Given the description of an element on the screen output the (x, y) to click on. 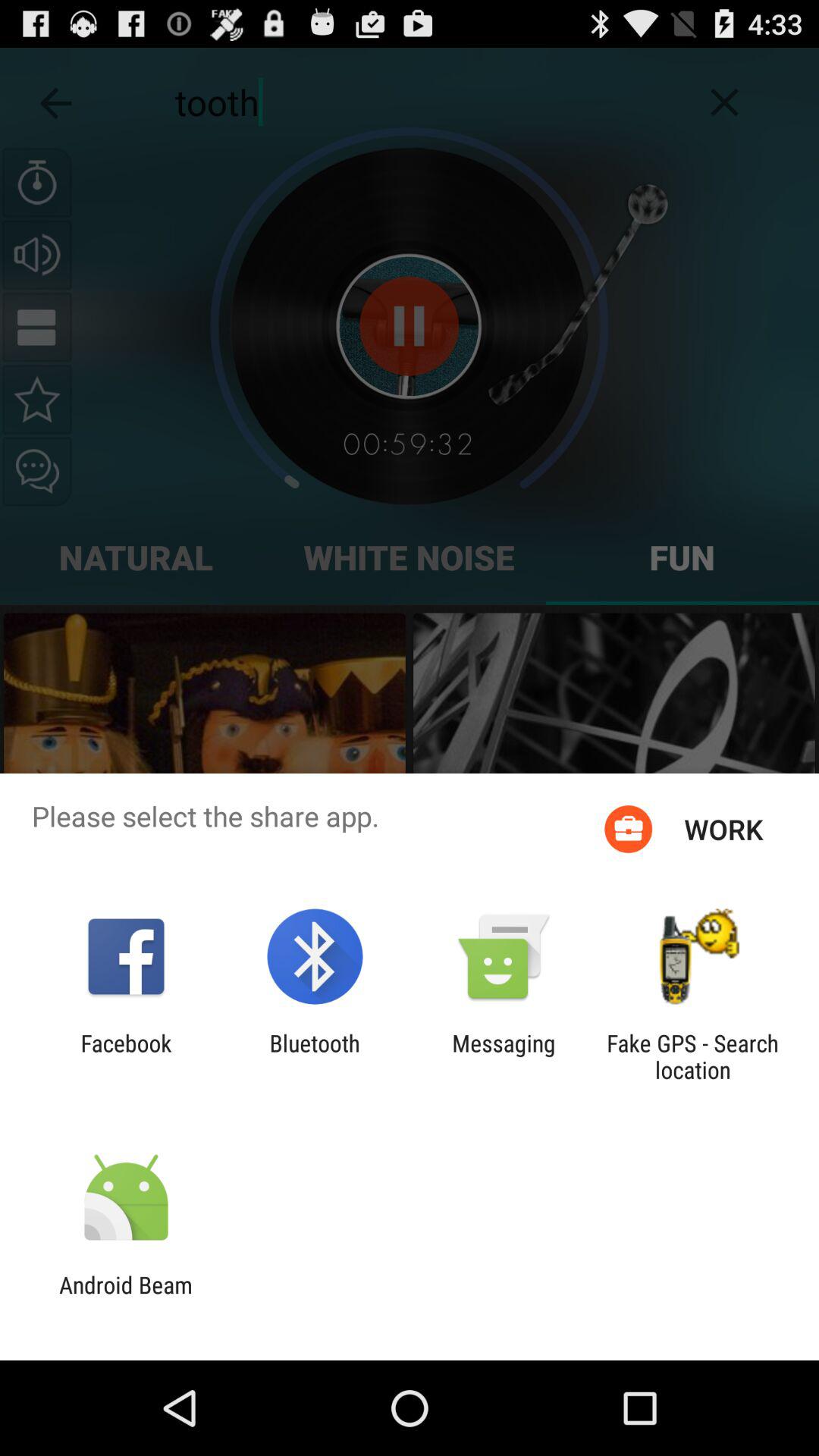
scroll to messaging item (503, 1056)
